Given the description of an element on the screen output the (x, y) to click on. 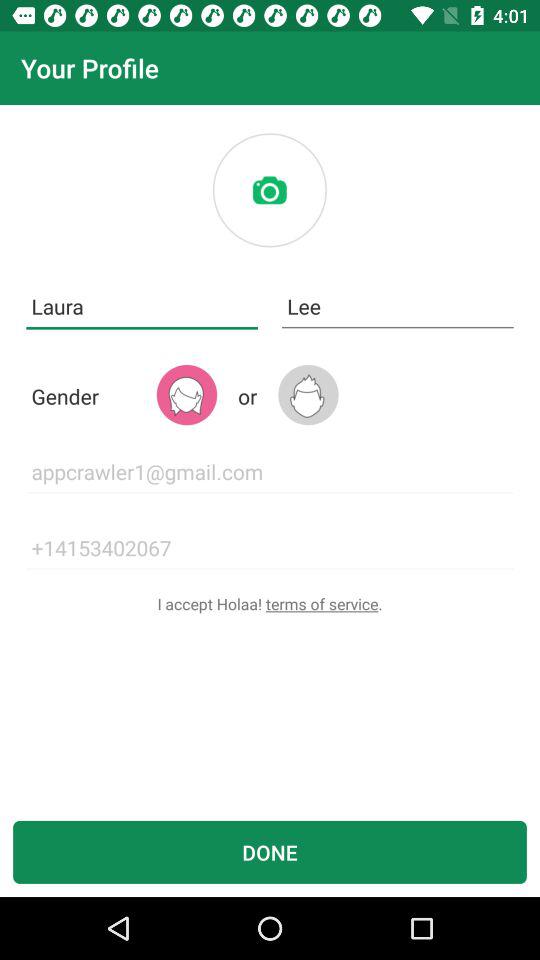
open the +14153402067 (270, 548)
